Given the description of an element on the screen output the (x, y) to click on. 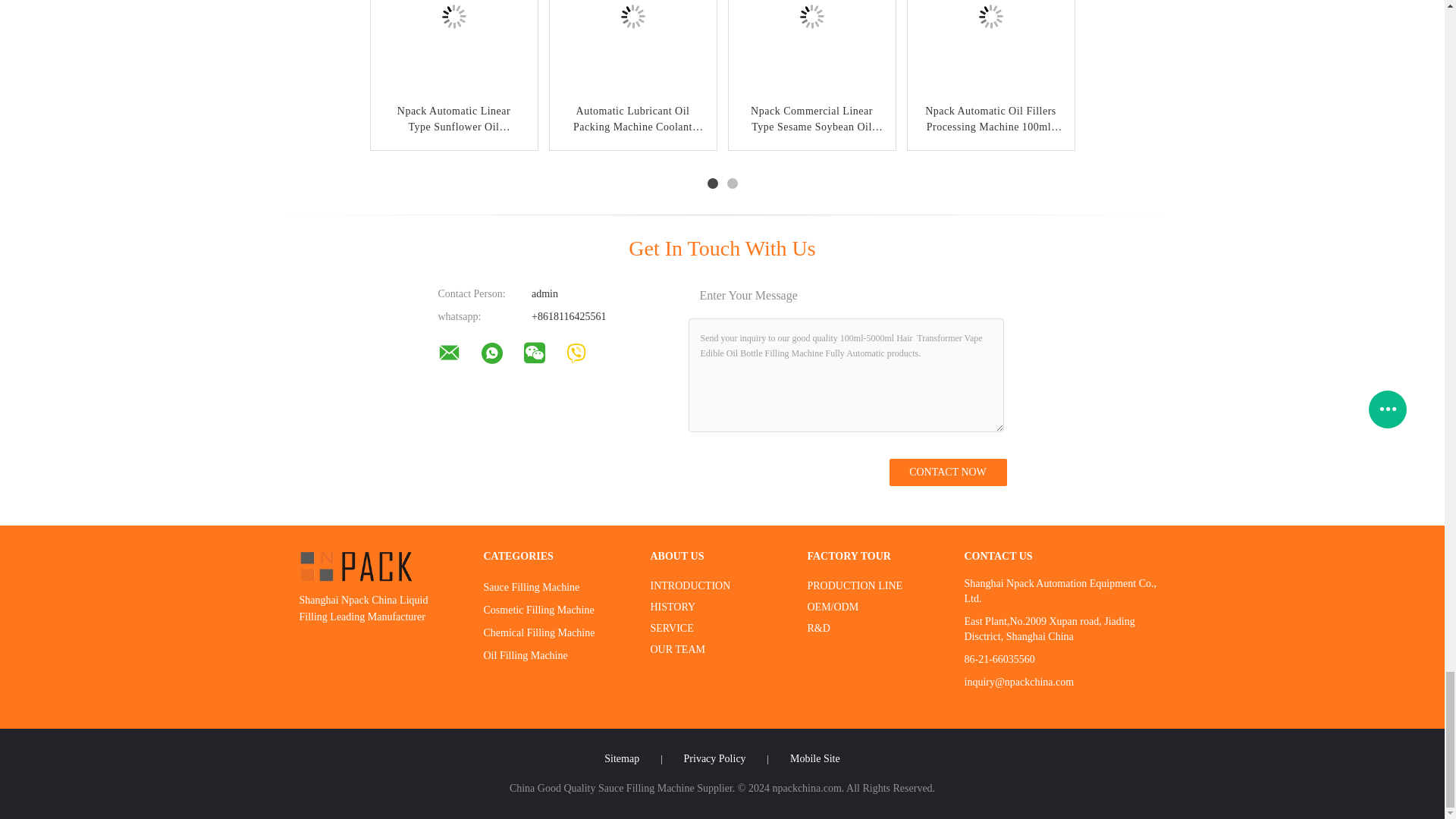
Contact Now (947, 472)
